Given the description of an element on the screen output the (x, y) to click on. 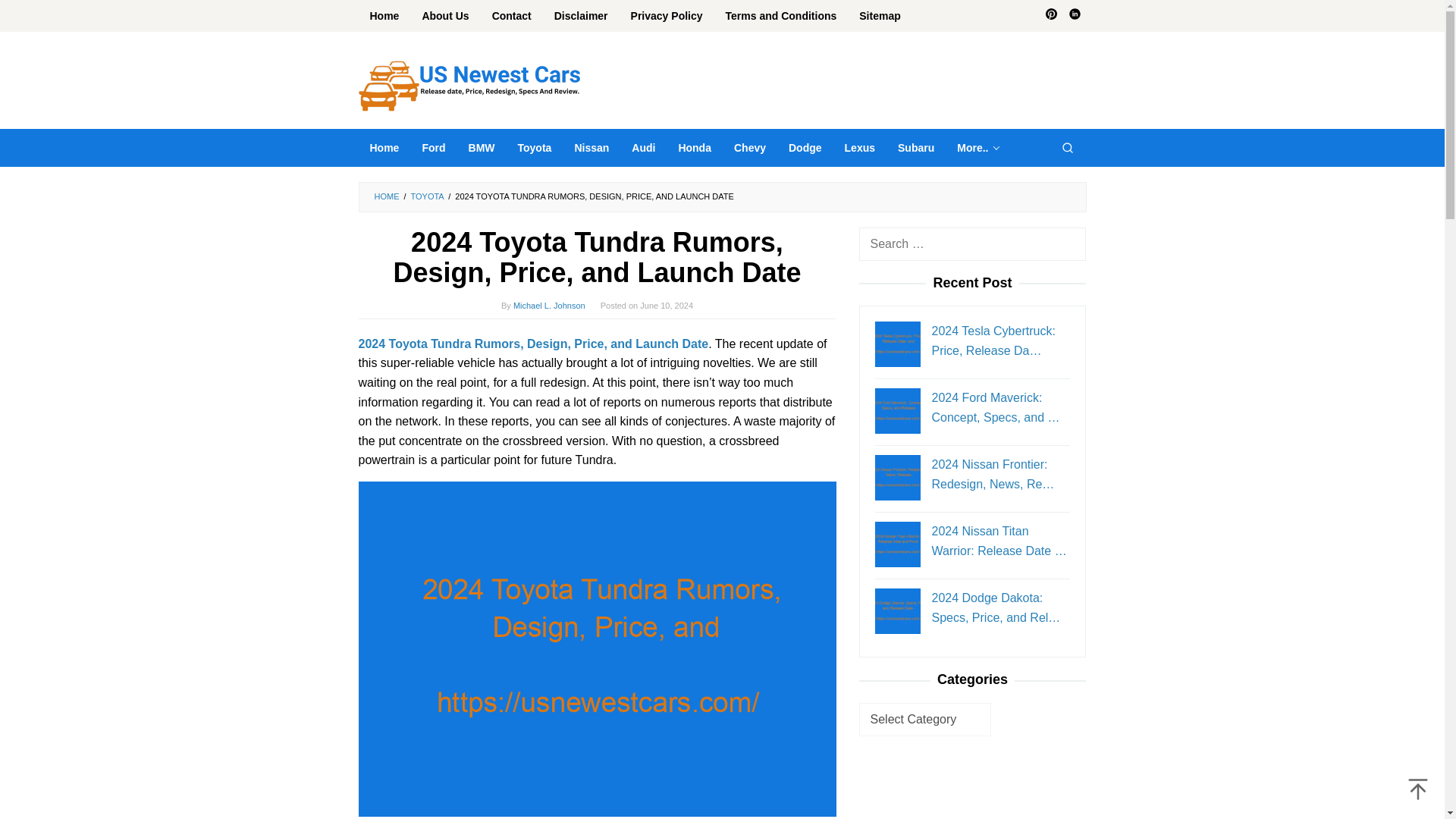
2024 Toyota Tundra Rumors, Design, Price, and Launch Date (532, 343)
Sitemap (879, 15)
Contact (511, 15)
Chevy (749, 147)
Nissan (591, 147)
Lexus (859, 147)
Home (384, 15)
US Newest Cars (468, 84)
HOME (386, 195)
Terms and Conditions (781, 15)
TOYOTA (427, 195)
About Us (445, 15)
Disclaimer (581, 15)
Michael L. Johnson (549, 305)
